Given the description of an element on the screen output the (x, y) to click on. 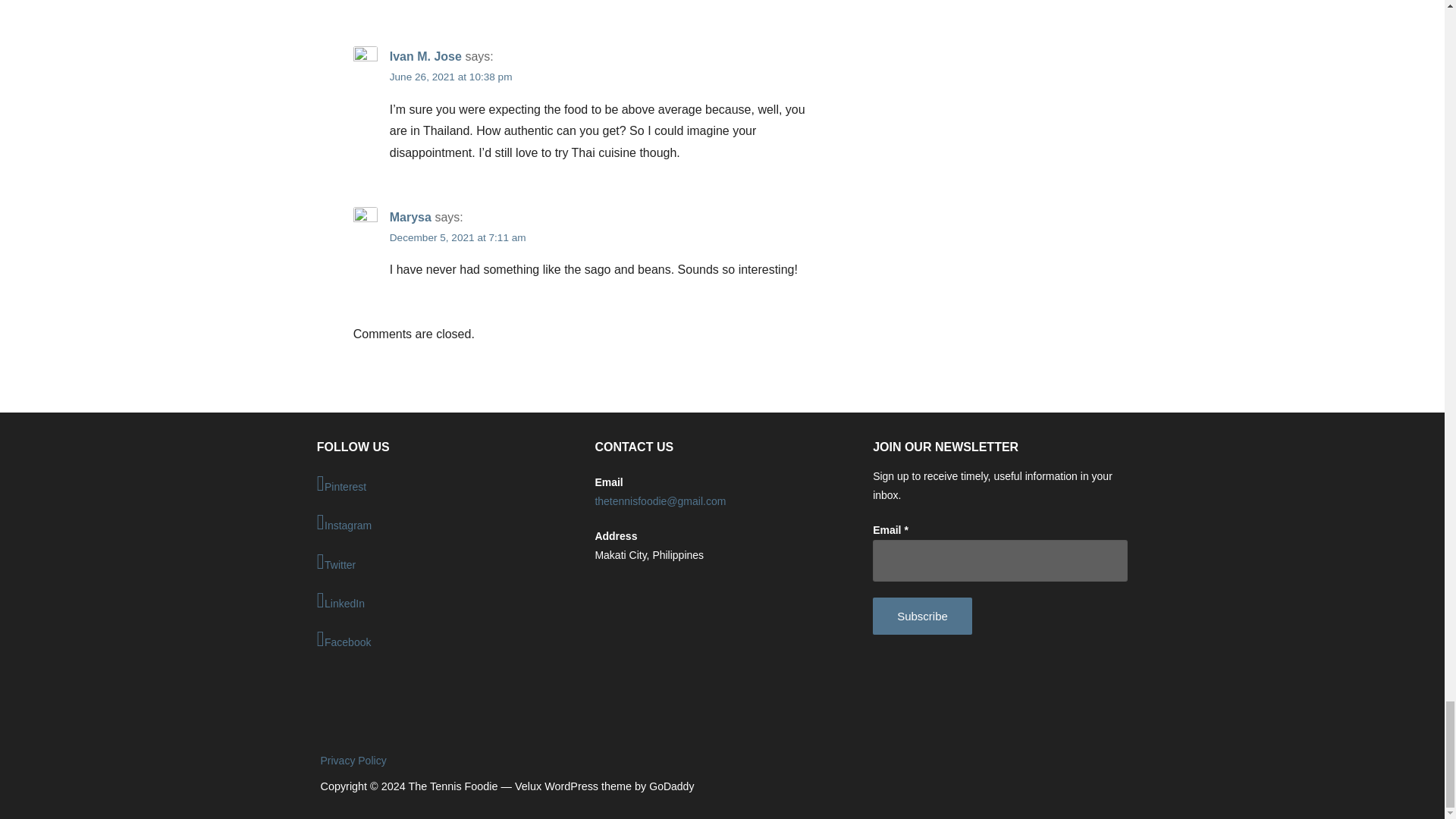
Visit The Tennis Foodie on LinkedIn (444, 601)
Visit The Tennis Foodie on Instagram (444, 523)
Visit The Tennis Foodie on Pinterest (444, 484)
Visit The Tennis Foodie on Twitter (444, 562)
Subscribe (922, 615)
Visit The Tennis Foodie on Facebook (444, 639)
